Given the description of an element on the screen output the (x, y) to click on. 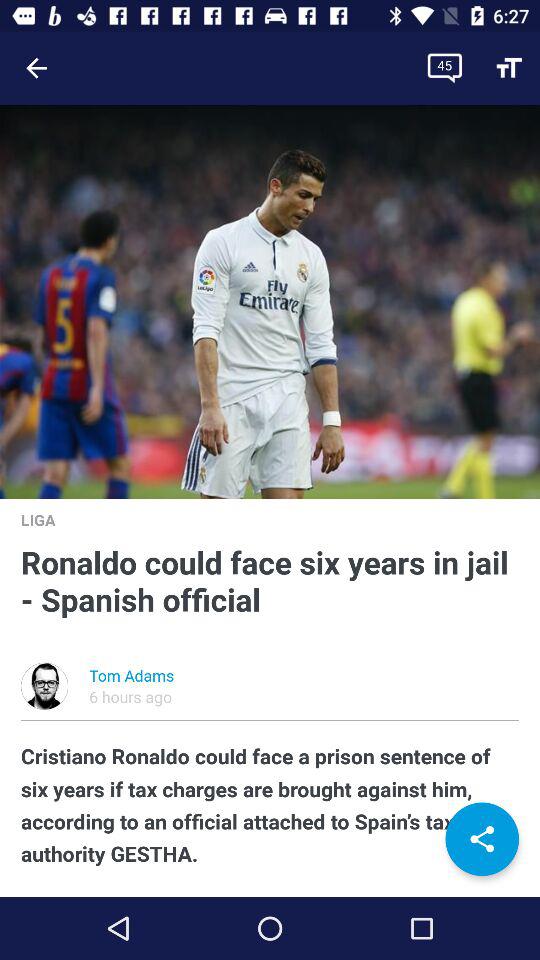
click icon above liga icon (270, 301)
